Given the description of an element on the screen output the (x, y) to click on. 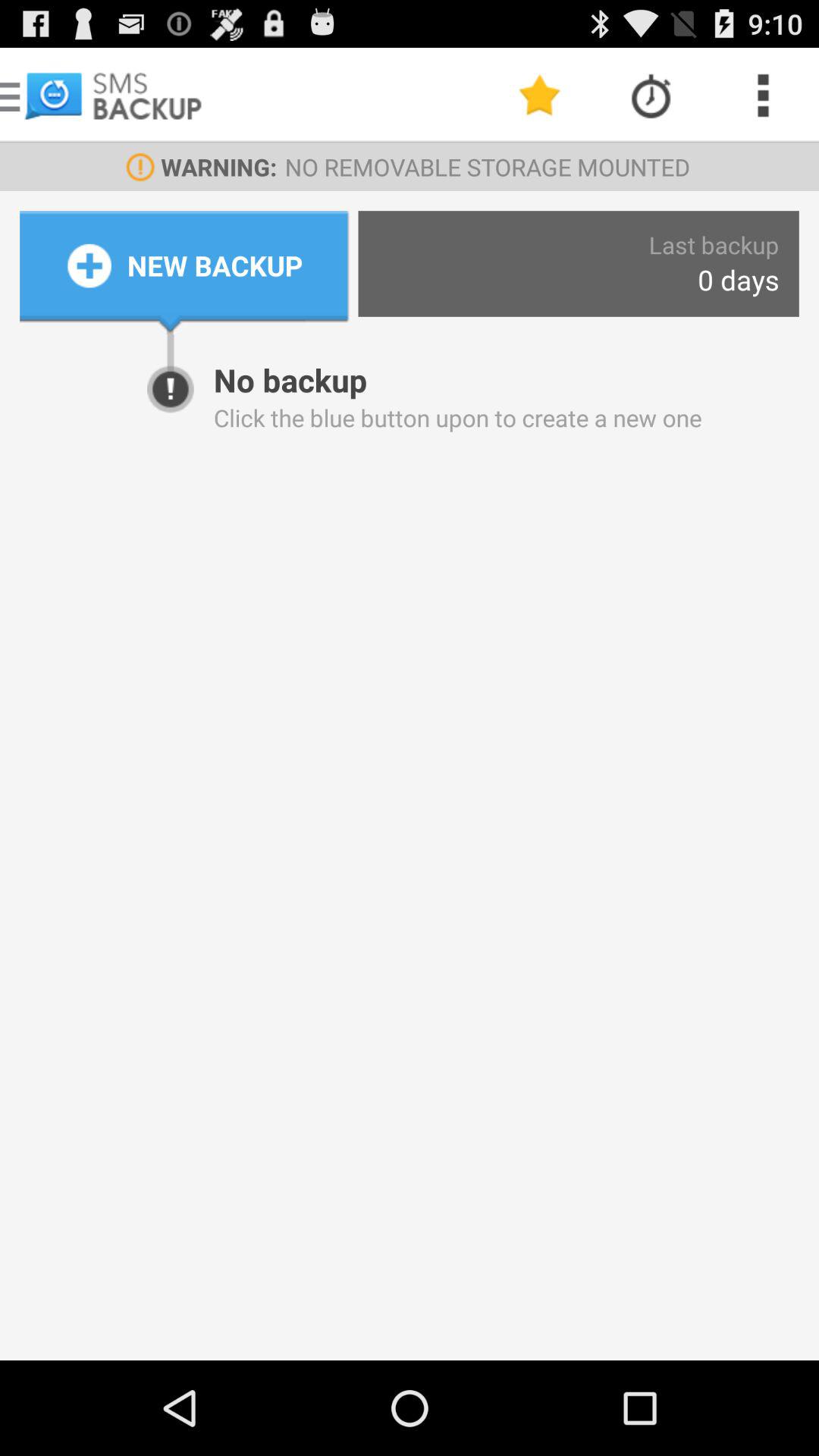
turn off the item to the right of new backup icon (738, 279)
